Given the description of an element on the screen output the (x, y) to click on. 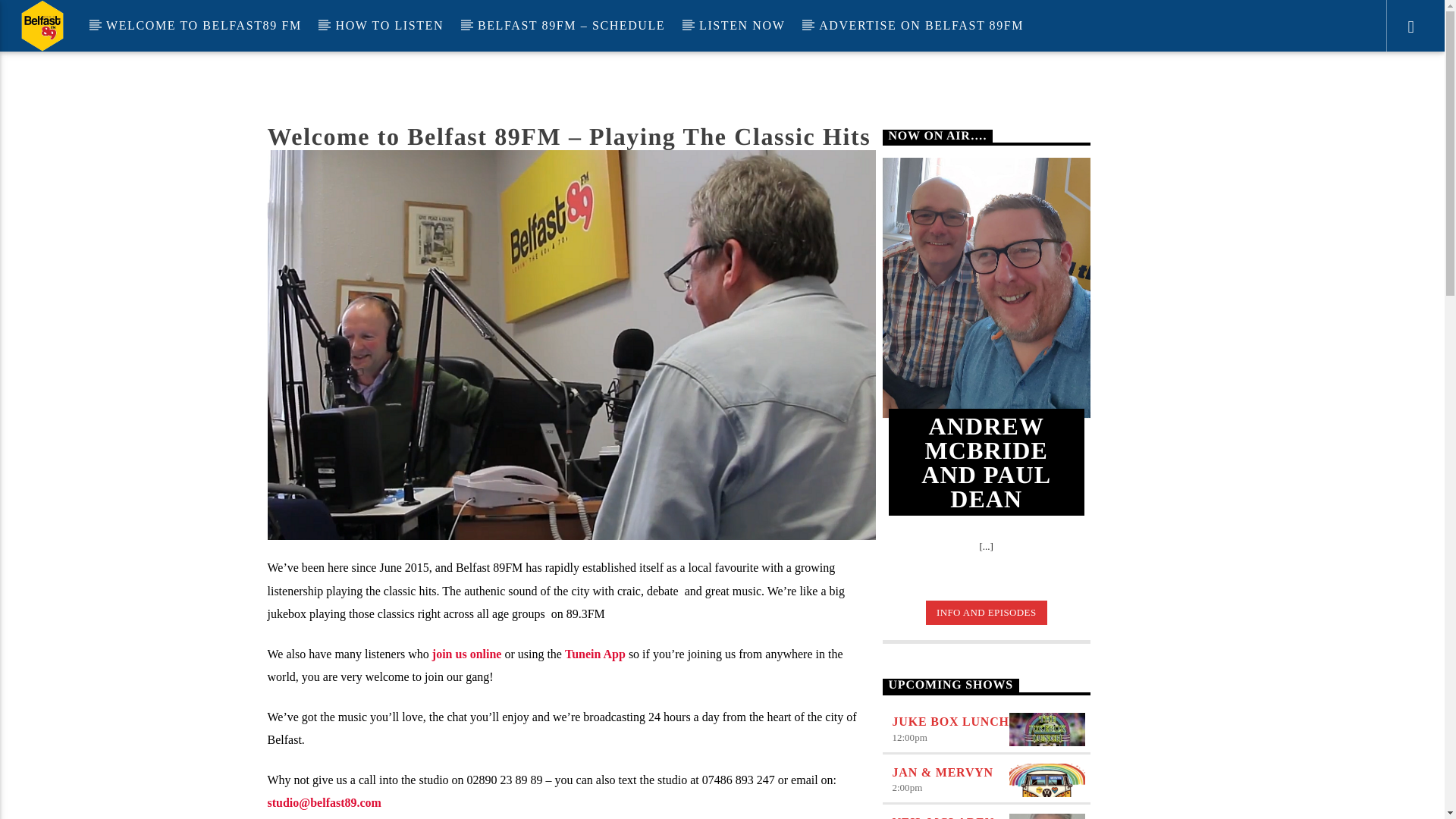
JUKE BOX LUNCH (950, 721)
ADVERTISE ON BELFAST 89FM (921, 25)
HOW TO LISTEN (389, 25)
INFO AND EPISODES (986, 612)
Tunein App (595, 653)
Search (1203, 75)
WELCOME TO BELFAST89 FM (203, 25)
join us online (467, 653)
LISTEN NOW (742, 25)
NEIL MCLAREN (942, 817)
